Given the description of an element on the screen output the (x, y) to click on. 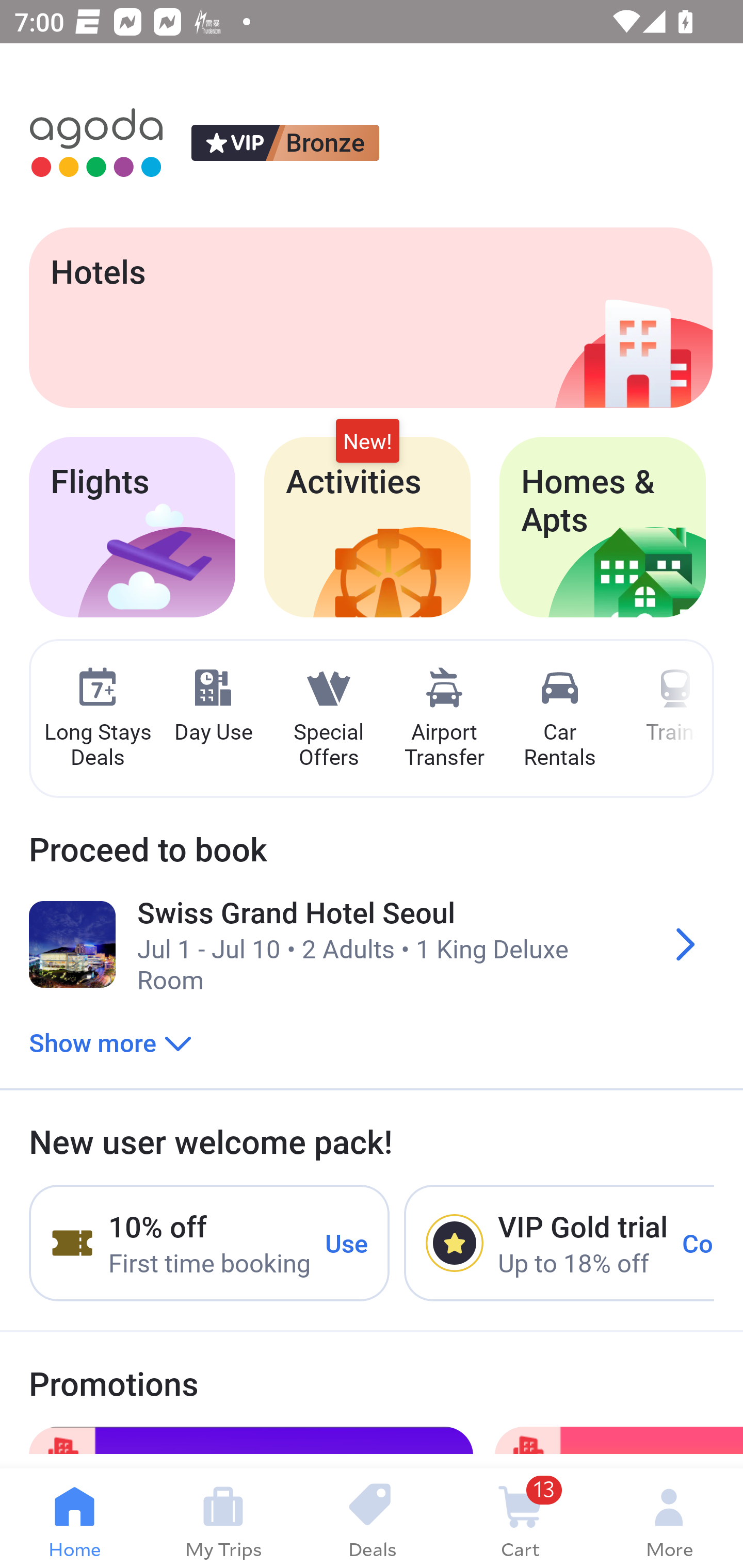
Hotels (370, 317)
New! (367, 441)
Flights (131, 527)
Activities (367, 527)
Homes & Apts (602, 527)
Day Use (213, 706)
Long Stays Deals (97, 718)
Special Offers (328, 718)
Airport Transfer (444, 718)
Car Rentals (559, 718)
Show more (110, 1041)
Use (346, 1242)
Home (74, 1518)
My Trips (222, 1518)
Deals (371, 1518)
13 Cart (519, 1518)
More (668, 1518)
